Given the description of an element on the screen output the (x, y) to click on. 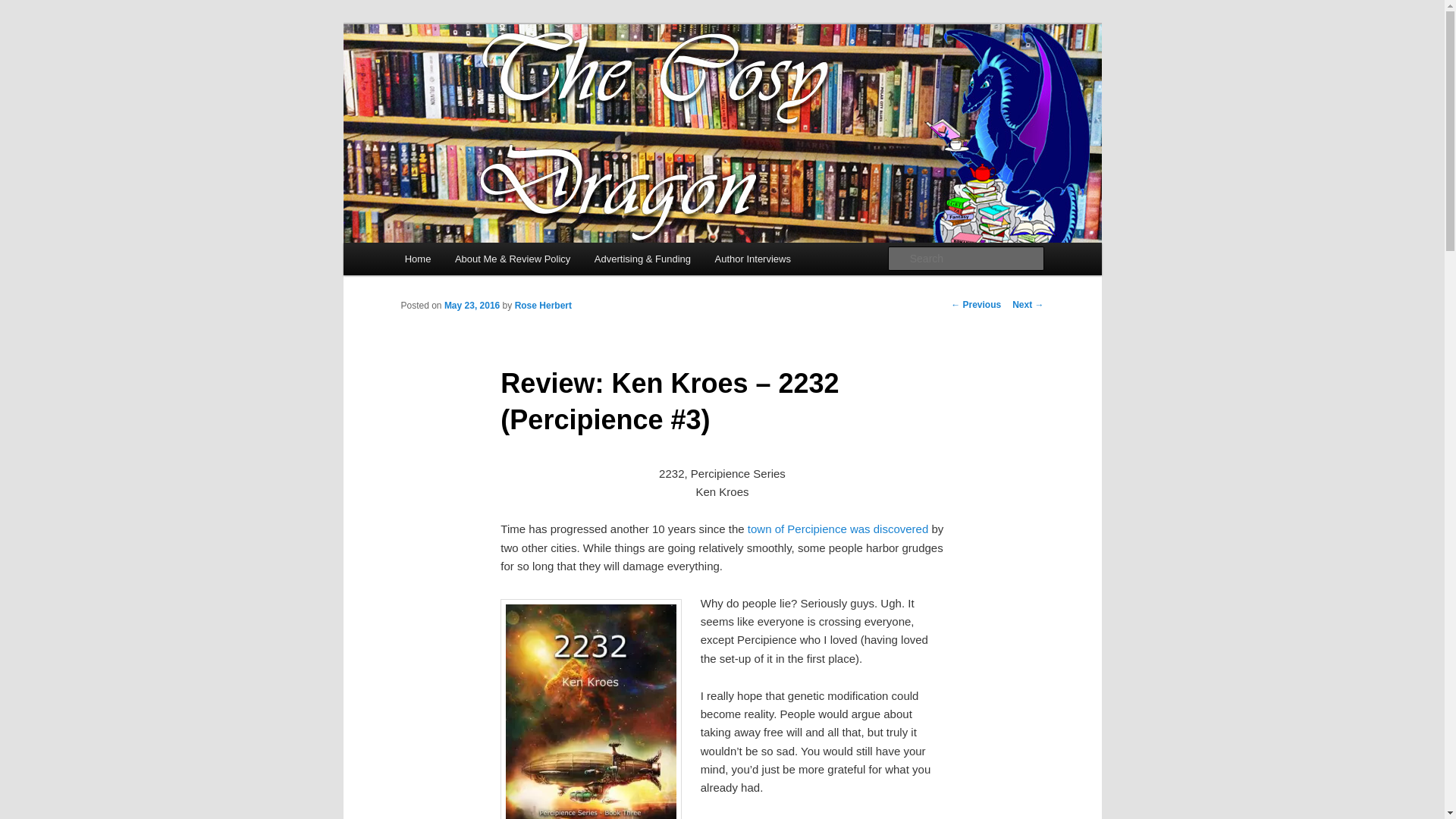
View all posts by Rose Herbert (543, 305)
The Cosy Dragon (494, 78)
12:01 am (471, 305)
town of Percipience was discovered (838, 528)
Home (417, 258)
Rose Herbert (543, 305)
May 23, 2016 (471, 305)
Search (24, 8)
Author Interviews (753, 258)
